Given the description of an element on the screen output the (x, y) to click on. 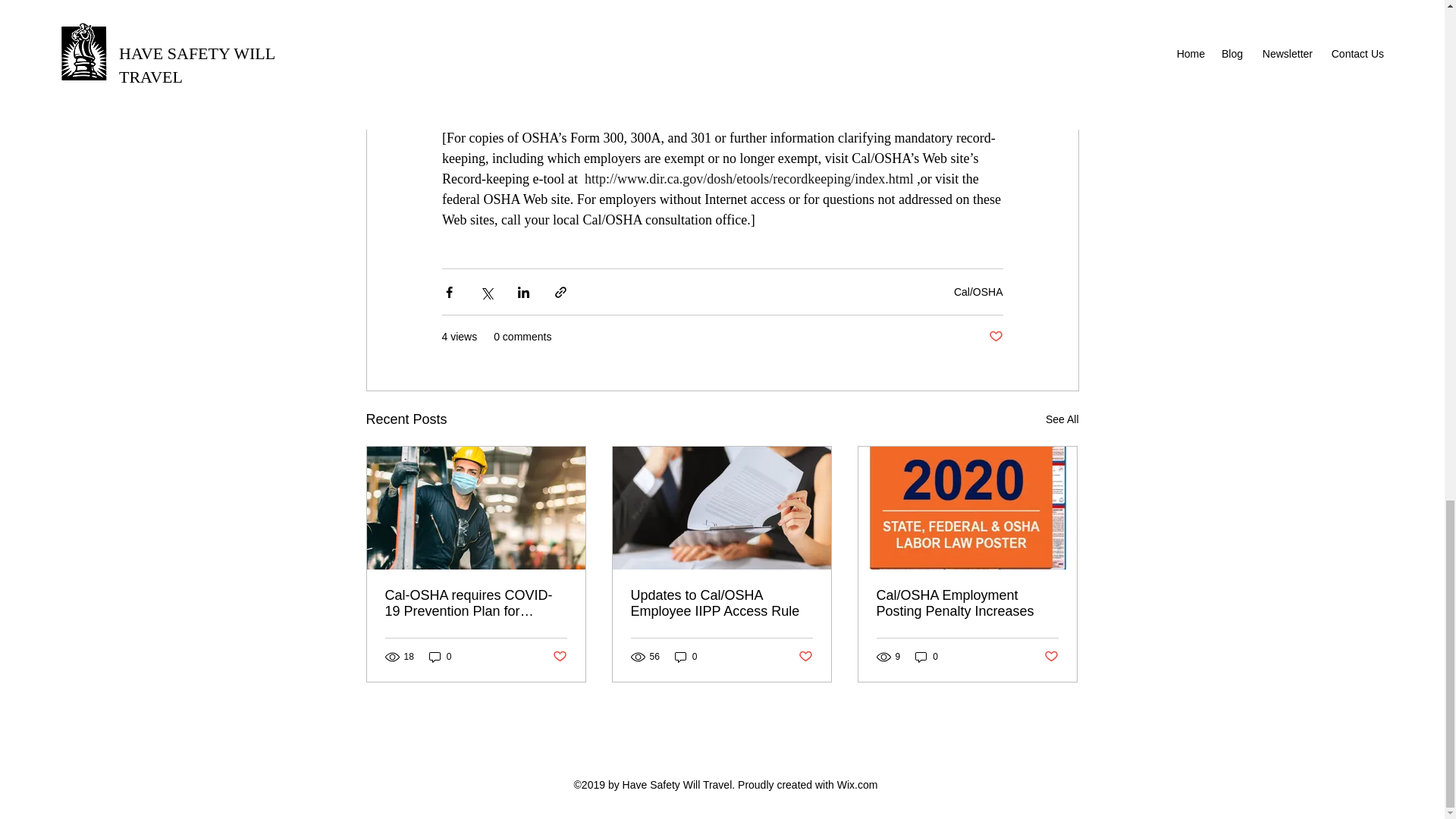
Post not marked as liked (804, 657)
Post not marked as liked (1050, 657)
0 (685, 657)
0 (926, 657)
See All (1061, 419)
Post not marked as liked (558, 657)
Post not marked as liked (995, 336)
0 (440, 657)
